Given the description of an element on the screen output the (x, y) to click on. 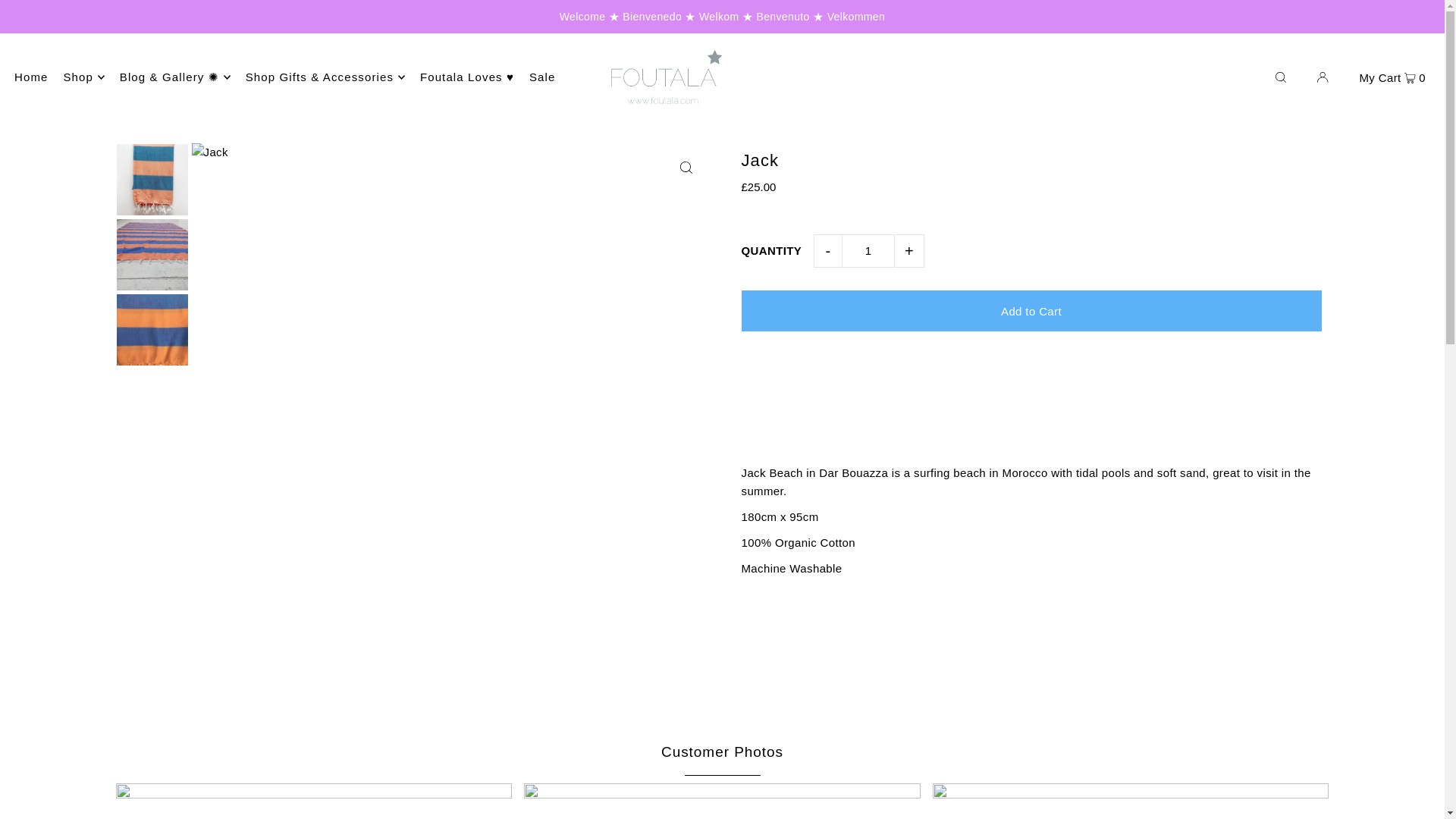
1 (868, 250)
Add to Cart (1031, 310)
Home (31, 77)
Click to zoom (685, 167)
Shop (83, 77)
